Given the description of an element on the screen output the (x, y) to click on. 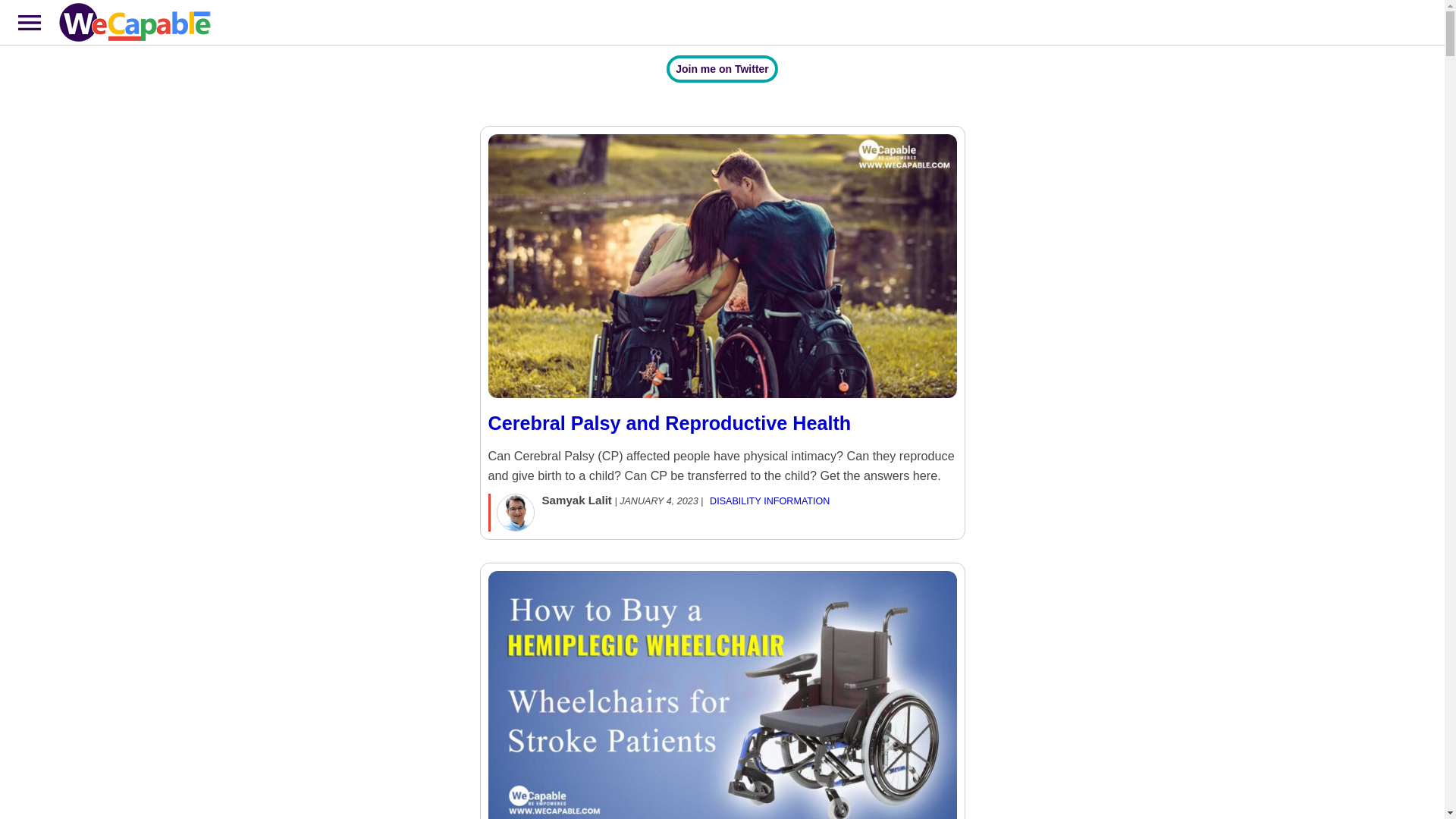
Cerebral Palsy and Reproductive Health (721, 437)
Join me on Twitter (721, 68)
DISABILITY INFORMATION (769, 500)
